Given the description of an element on the screen output the (x, y) to click on. 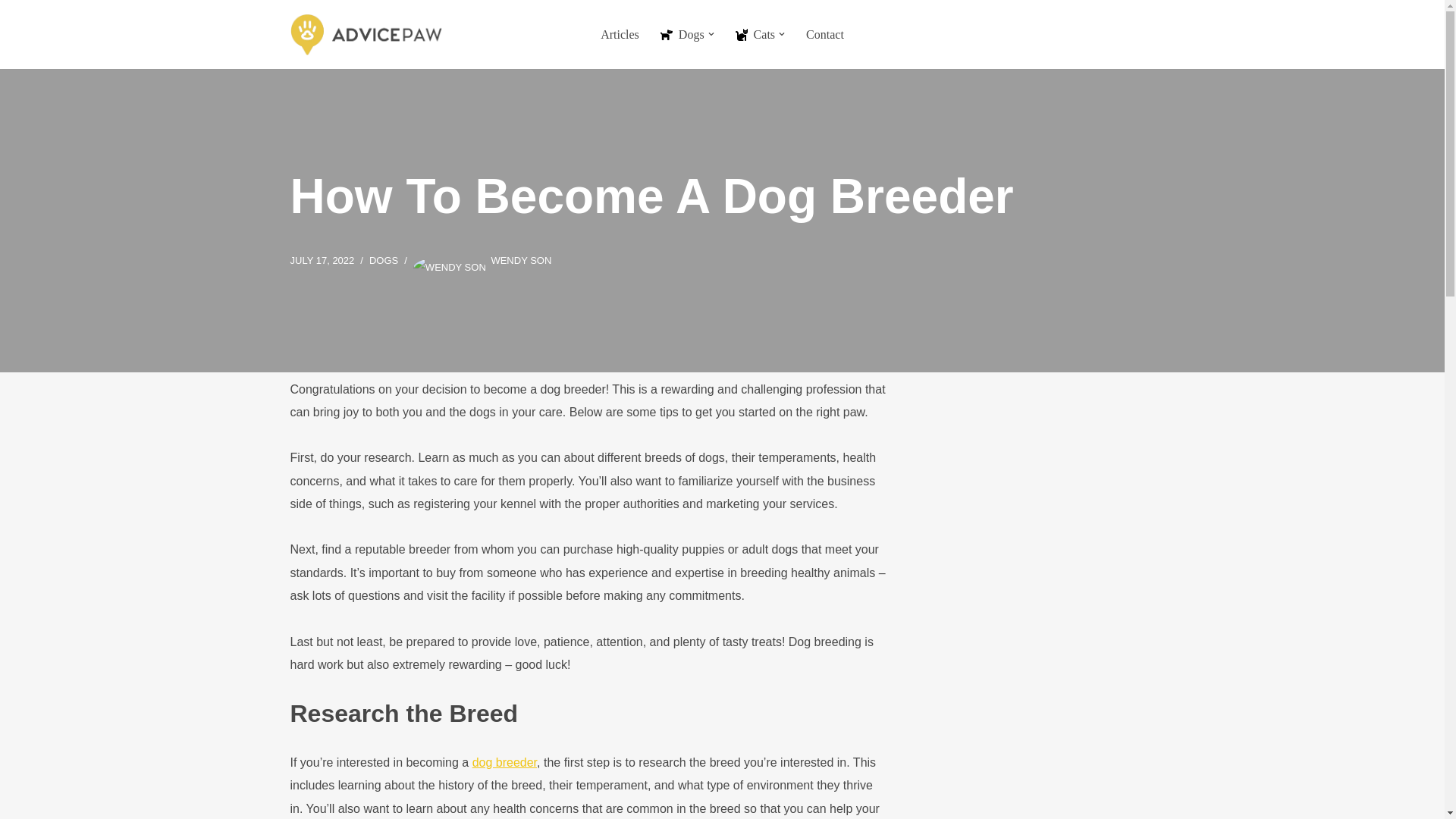
Contact (825, 34)
dog breeder (504, 762)
DOGS (383, 260)
Posts by Wendy Son (520, 260)
Articles (619, 34)
Dogs (682, 34)
Skip to content (11, 31)
Cats (754, 34)
WENDY SON (520, 260)
